Given the description of an element on the screen output the (x, y) to click on. 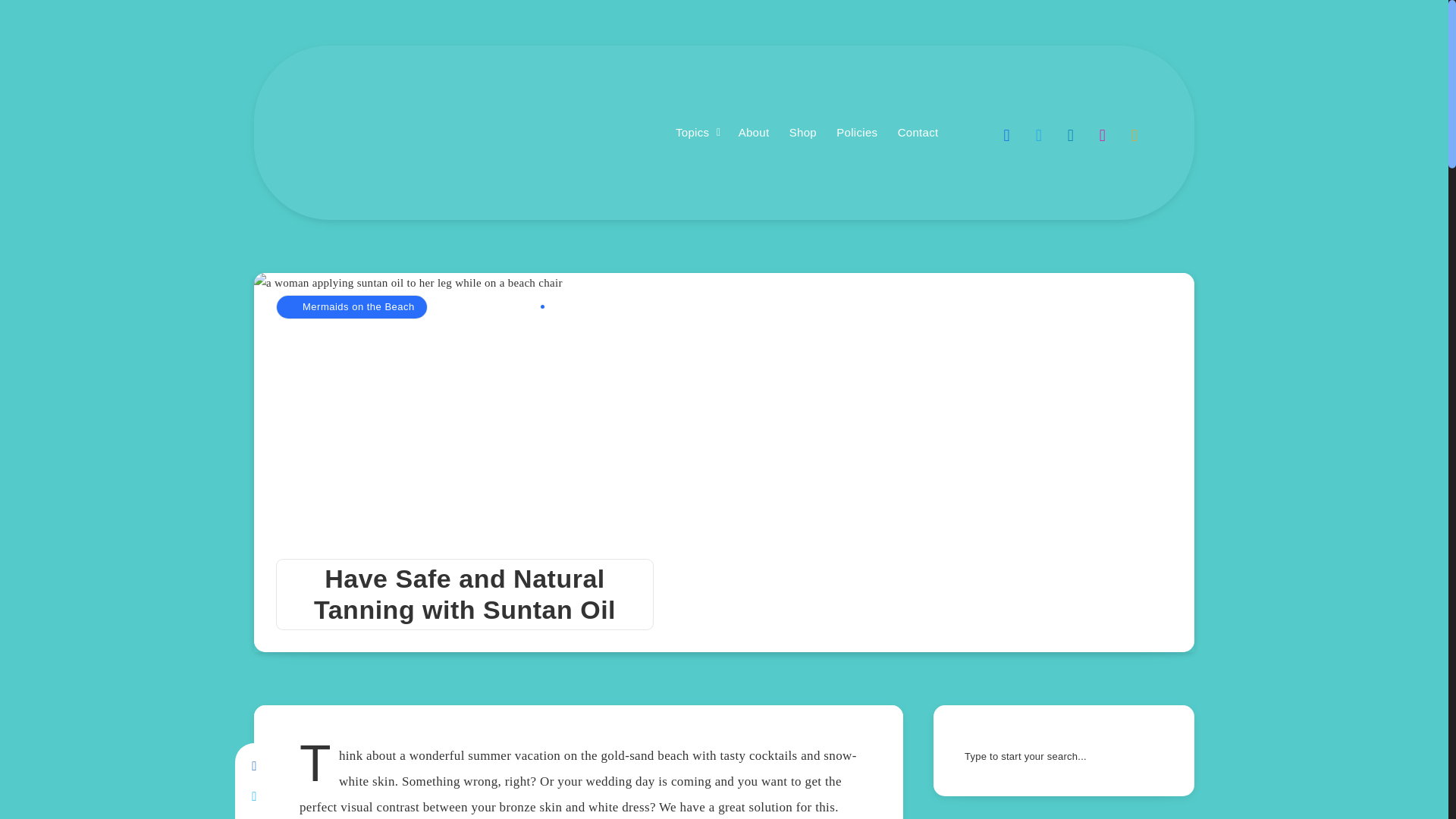
About (754, 133)
Topics (692, 133)
Share on Twitter (253, 797)
Share on Facebook (253, 766)
Shop (802, 133)
Contact (918, 133)
Policies (856, 133)
Mermaids on the Beach (351, 306)
Share on Linkedin (253, 815)
